Given the description of an element on the screen output the (x, y) to click on. 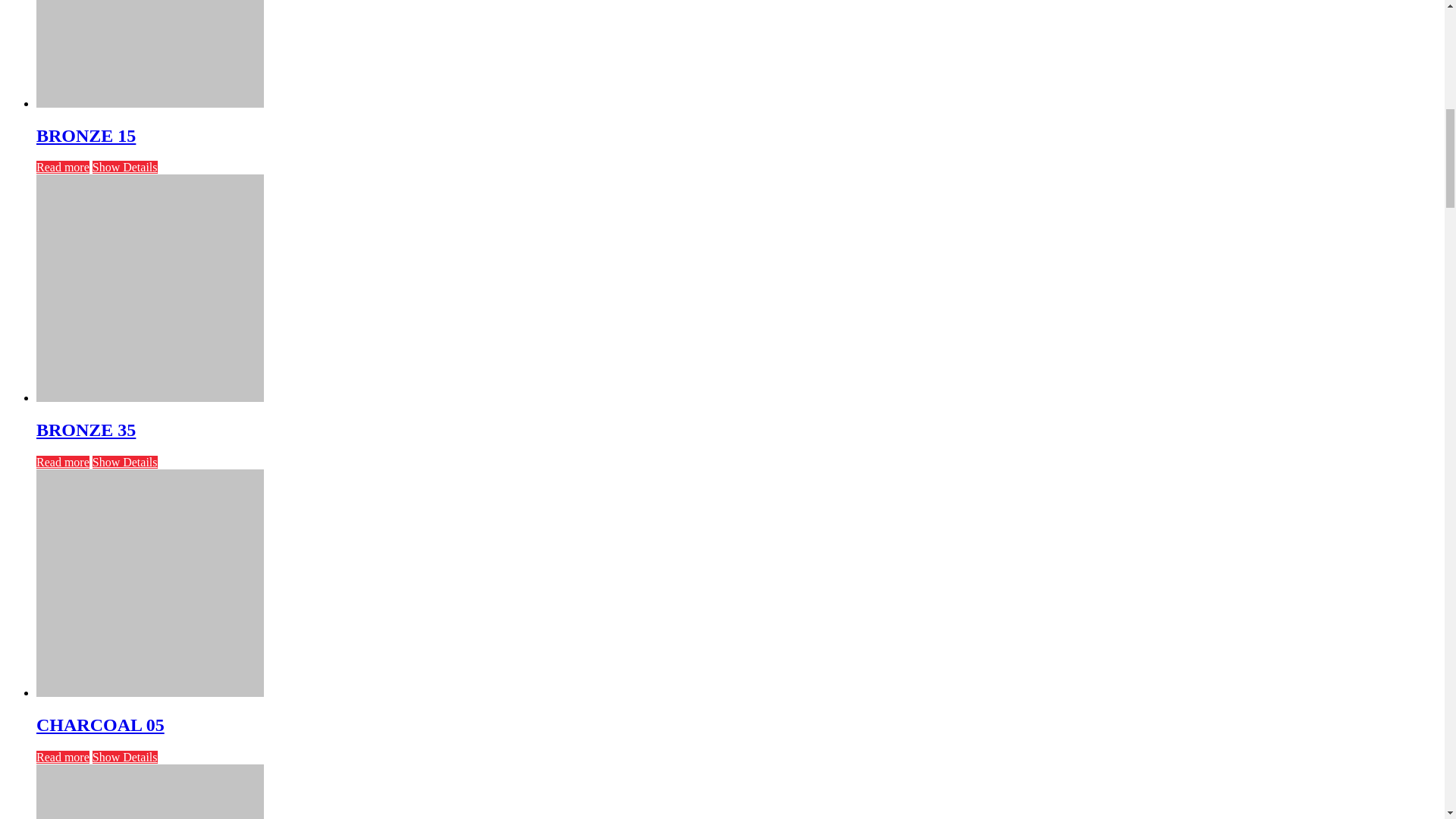
Read more (62, 166)
